Given the description of an element on the screen output the (x, y) to click on. 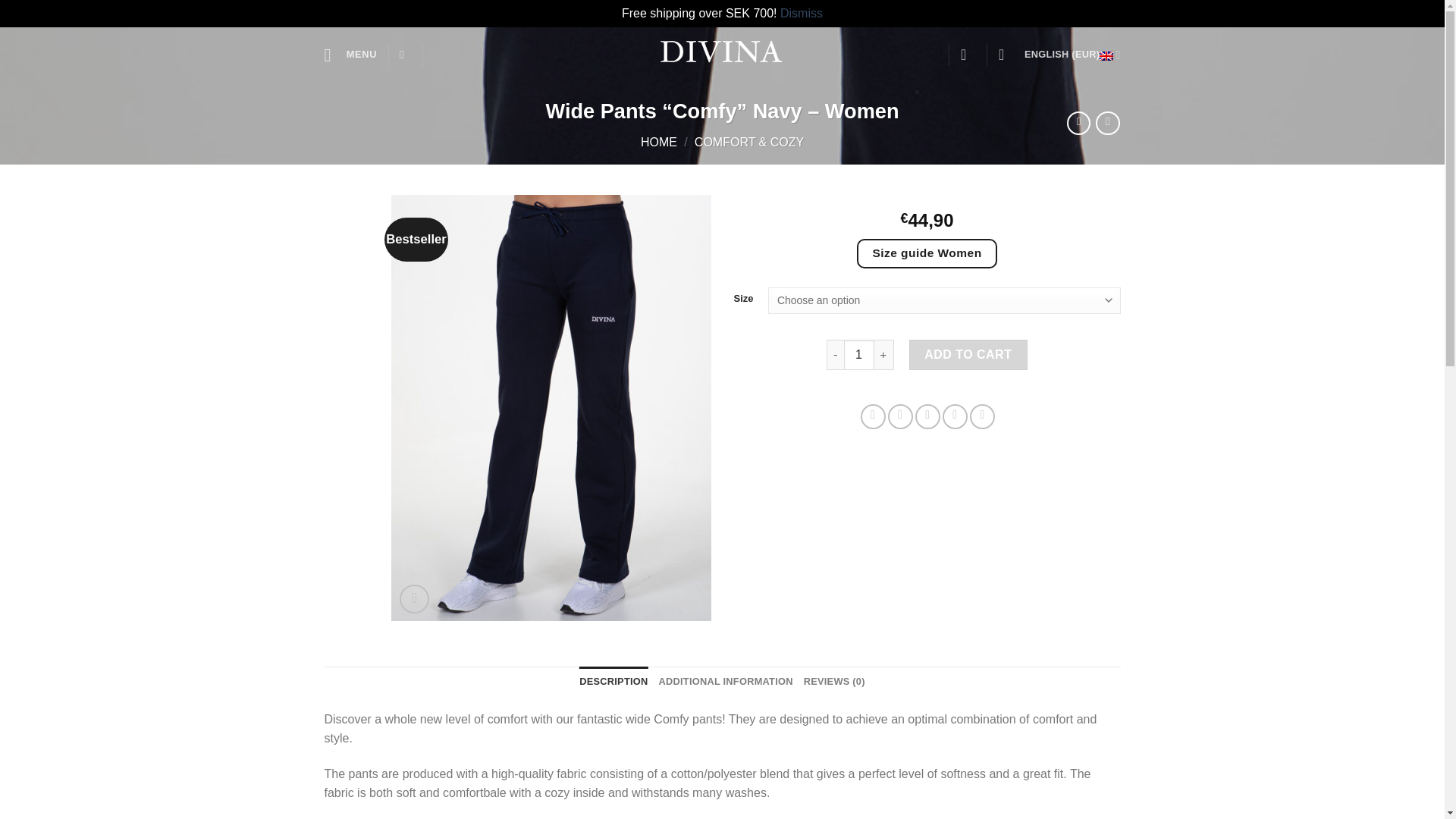
Pin on Pinterest (955, 416)
Zoom (413, 599)
HOME (658, 141)
divinasports.com - Divina Sports Sweden (721, 54)
Email to a Friend (927, 416)
1 (859, 354)
Size guide Women (927, 253)
Dismiss (801, 12)
Share on Twitter (900, 416)
ADD TO CART (967, 354)
